Given the description of an element on the screen output the (x, y) to click on. 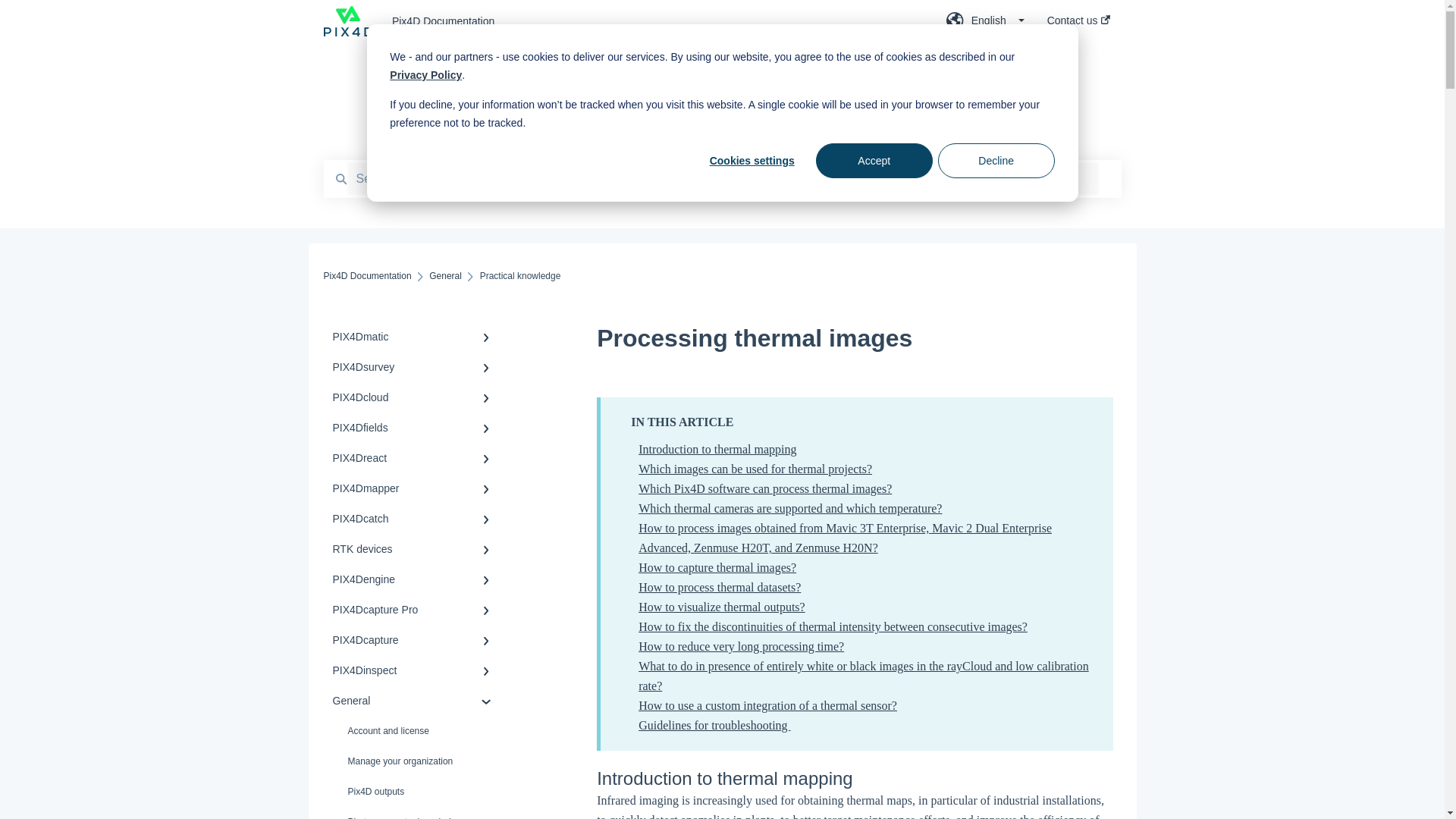
Pix4D Documentation (646, 21)
English (985, 25)
Contact us (1077, 25)
